Given the description of an element on the screen output the (x, y) to click on. 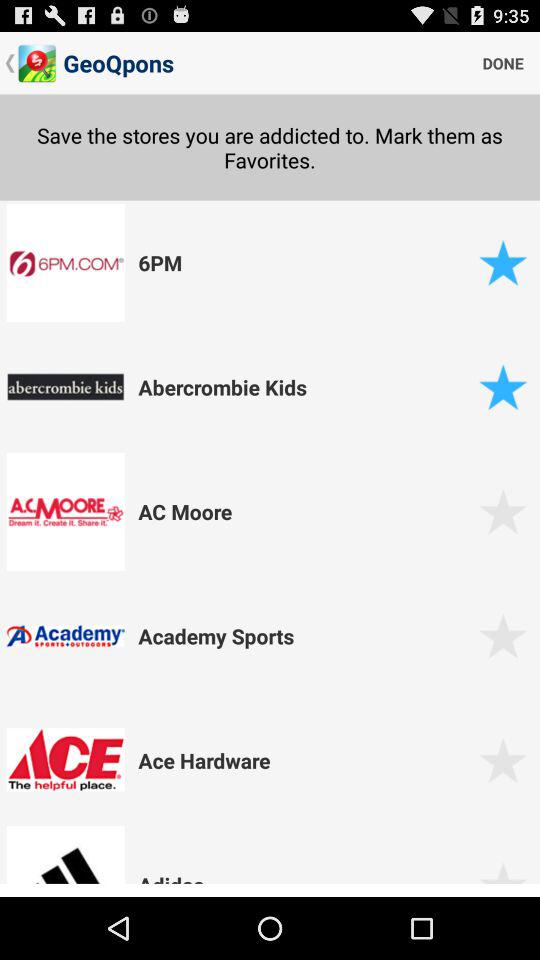
jump until the 6pm icon (305, 262)
